Given the description of an element on the screen output the (x, y) to click on. 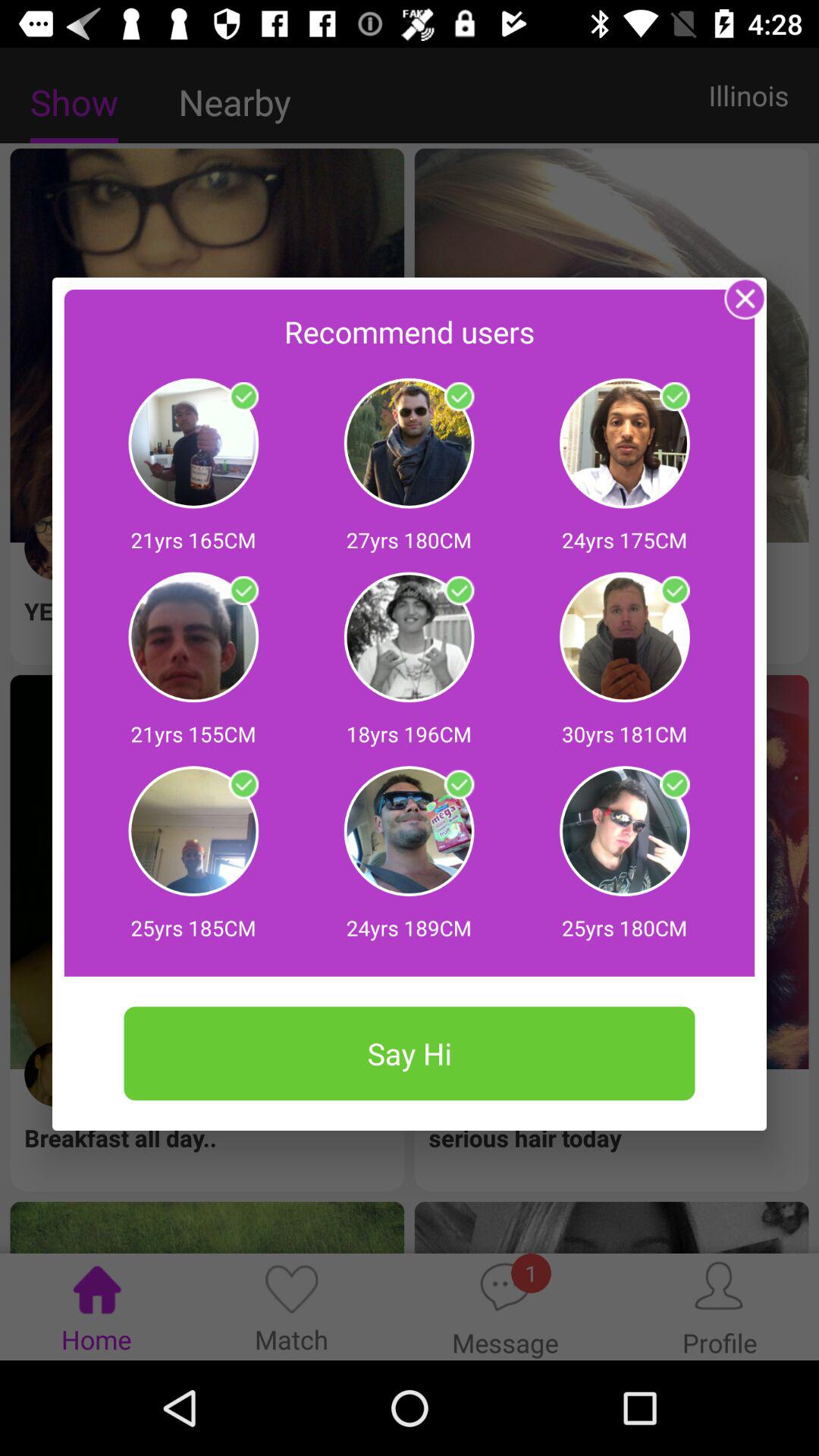
unchecked user (459, 784)
